Given the description of an element on the screen output the (x, y) to click on. 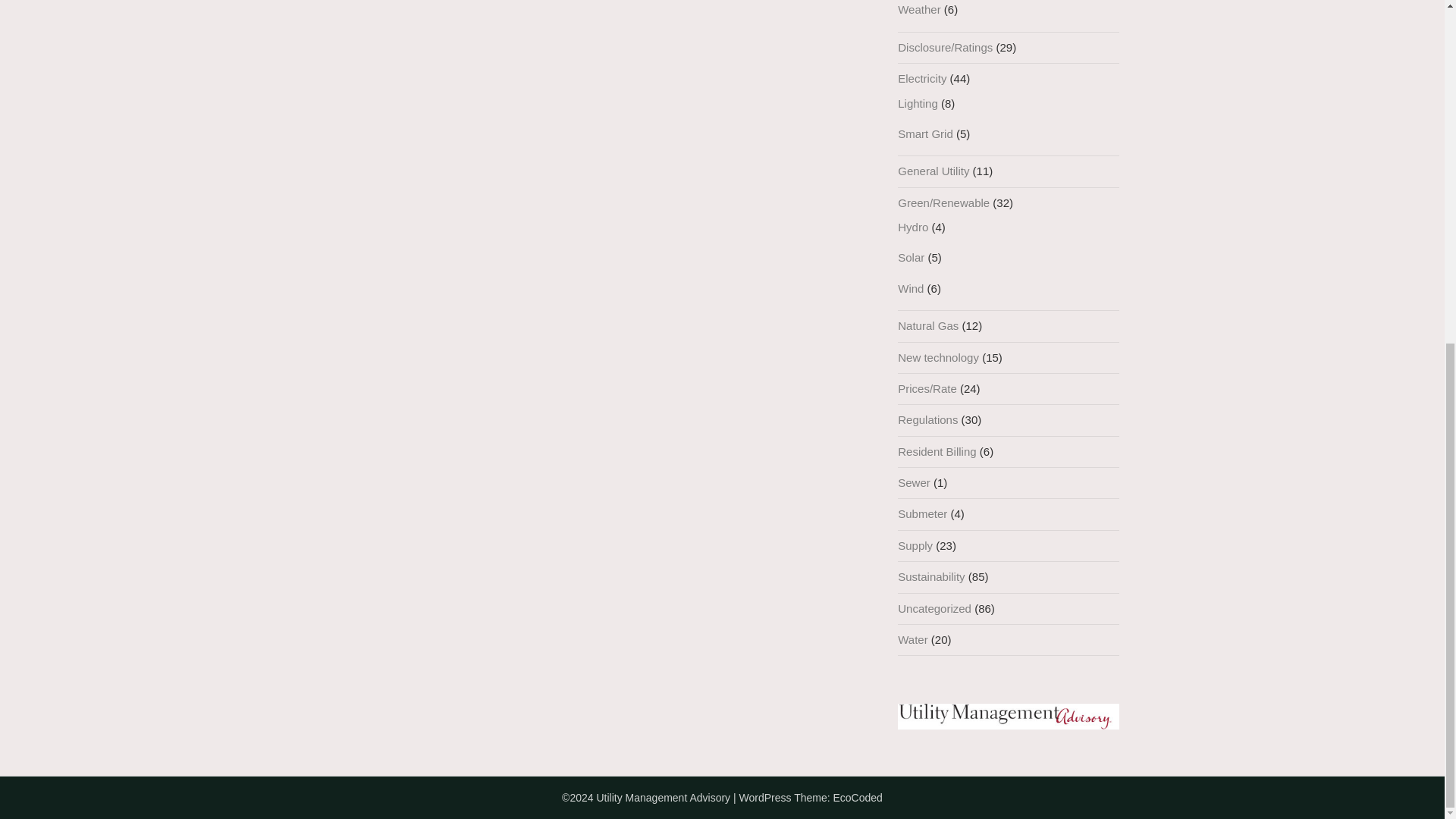
Smart Grid (925, 133)
Natural Gas (928, 325)
Wind (910, 287)
New technology (938, 357)
Resident Billing (936, 451)
General Utility (933, 170)
Electricity (922, 78)
Regulations (928, 419)
Hydro (913, 226)
Weather (919, 9)
